Given the description of an element on the screen output the (x, y) to click on. 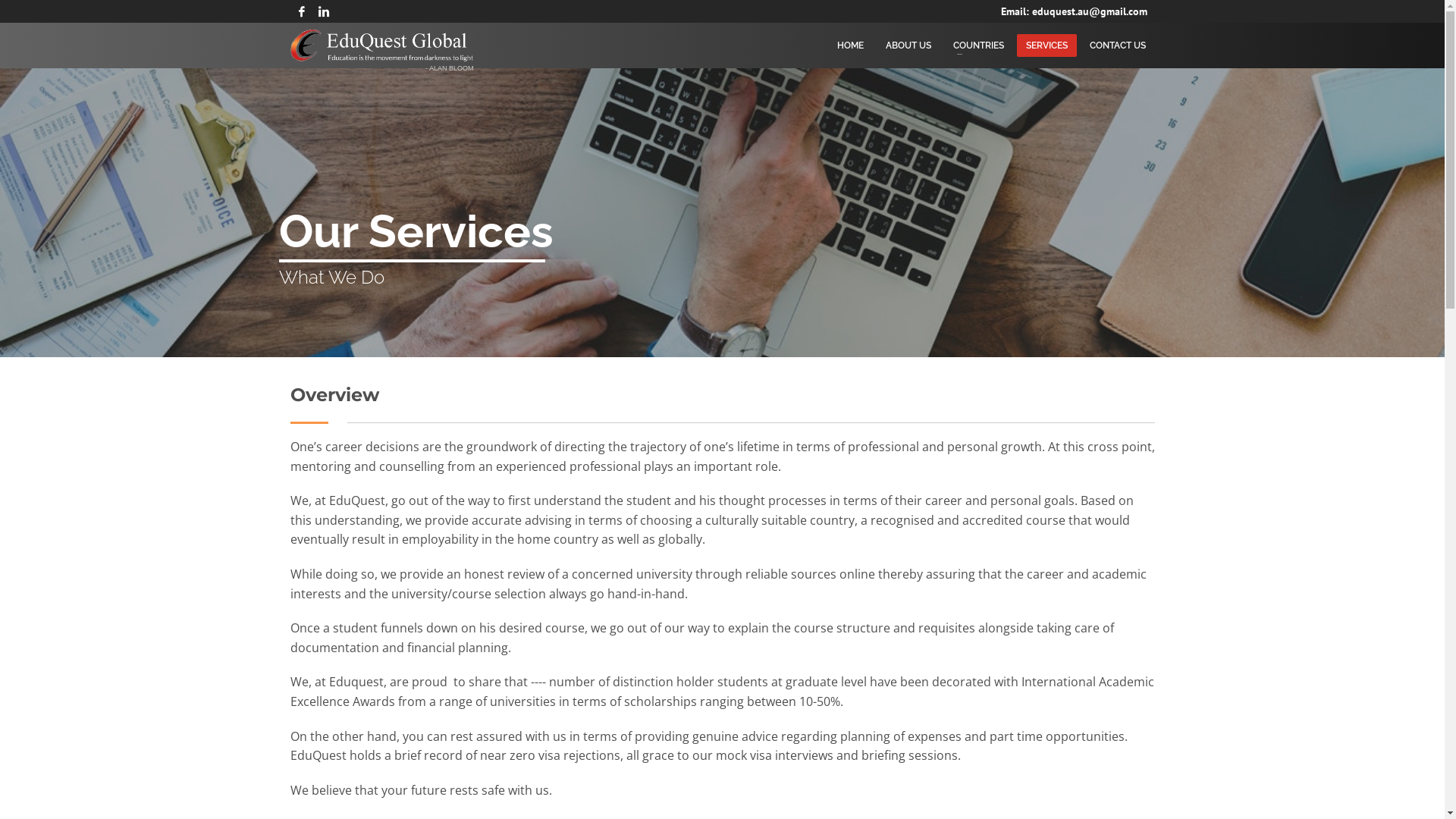
SERVICES Element type: text (1046, 45)
HOME Element type: text (850, 45)
pexels-photo-1011329 Element type: hover (722, 212)
ABOUT US Element type: text (908, 45)
CONTACT US Element type: text (1116, 45)
COUNTRIES Element type: text (977, 45)
Email: eduquest.au@gmail.com Element type: text (1074, 11)
